Given the description of an element on the screen output the (x, y) to click on. 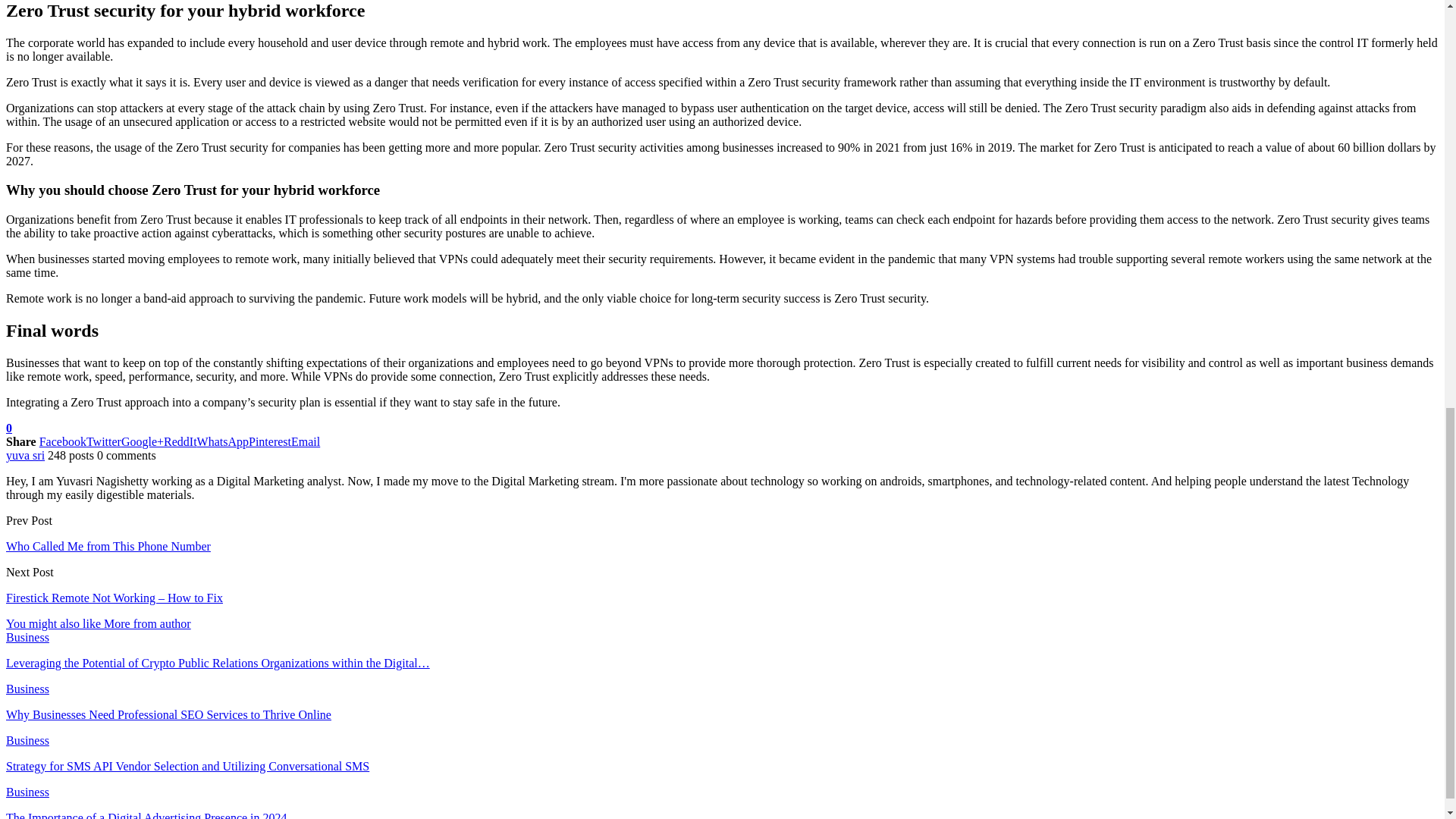
yuva sri (25, 454)
WhatsApp (222, 440)
Pinterest (269, 440)
Facebook (62, 440)
Twitter (102, 440)
Email (305, 440)
Who Called Me from This Phone Number (108, 545)
ReddIt (179, 440)
